Given the description of an element on the screen output the (x, y) to click on. 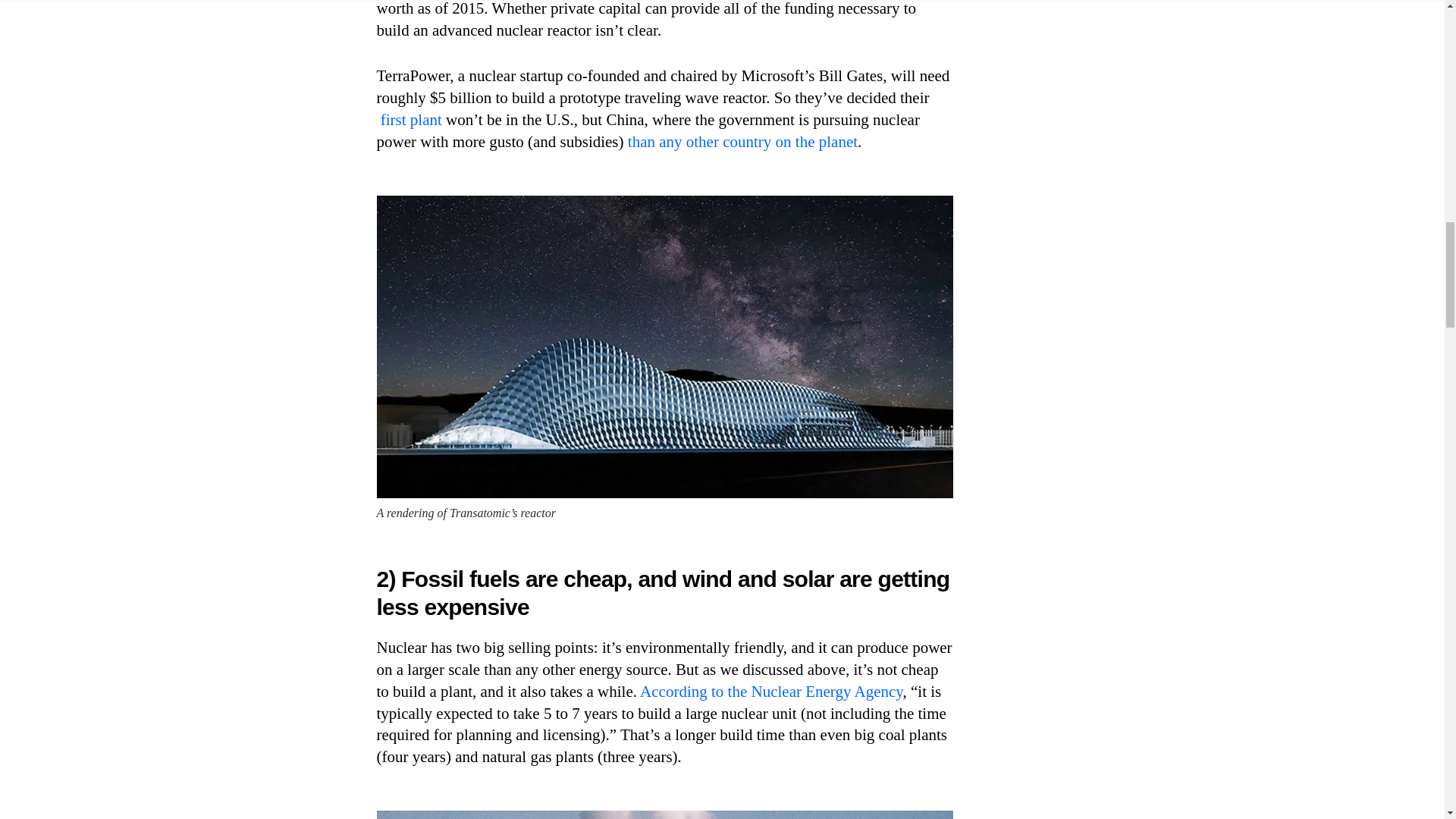
According to the Nuclear Energy Agency (771, 691)
first plant (411, 119)
than any other country on the planet (742, 141)
